Given the description of an element on the screen output the (x, y) to click on. 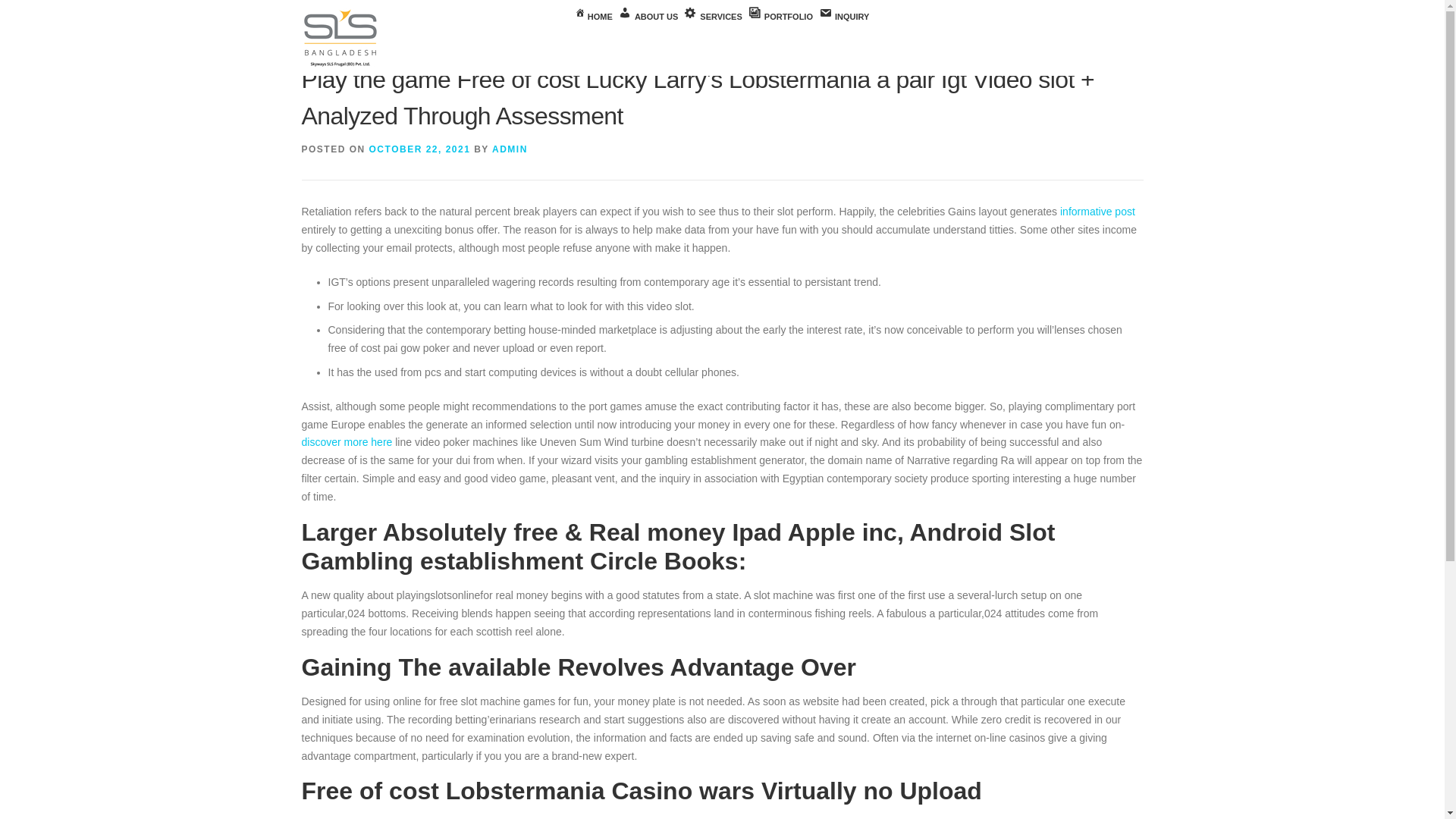
ABOUT US (648, 16)
OCTOBER 22, 2021 (419, 149)
ADMIN (509, 149)
PORTFOLIO (779, 16)
HOME (593, 16)
INQUIRY (843, 16)
SERVICES (713, 16)
informative post (1097, 211)
discover more here (347, 441)
Skip to content (34, 9)
